Given the description of an element on the screen output the (x, y) to click on. 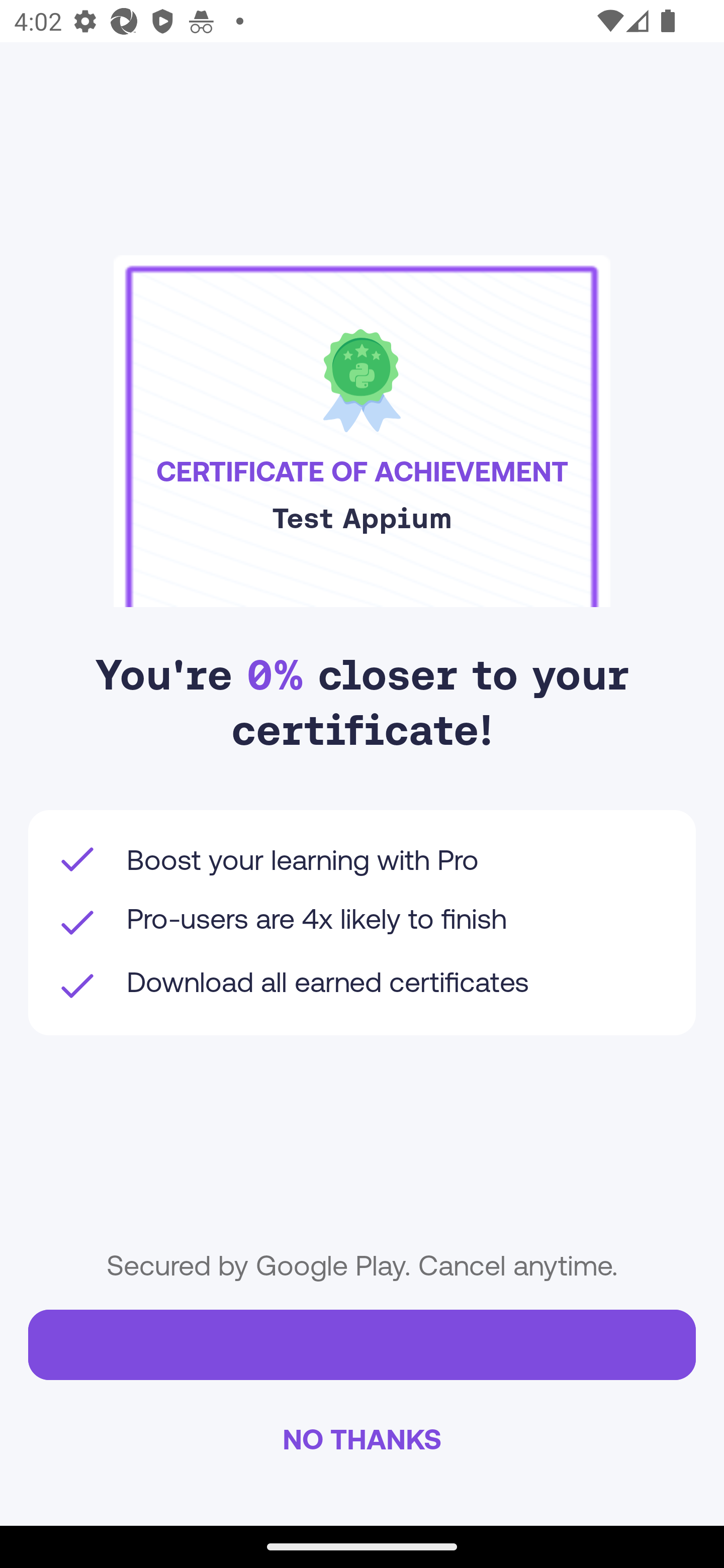
NO THANKS (361, 1438)
